Given the description of an element on the screen output the (x, y) to click on. 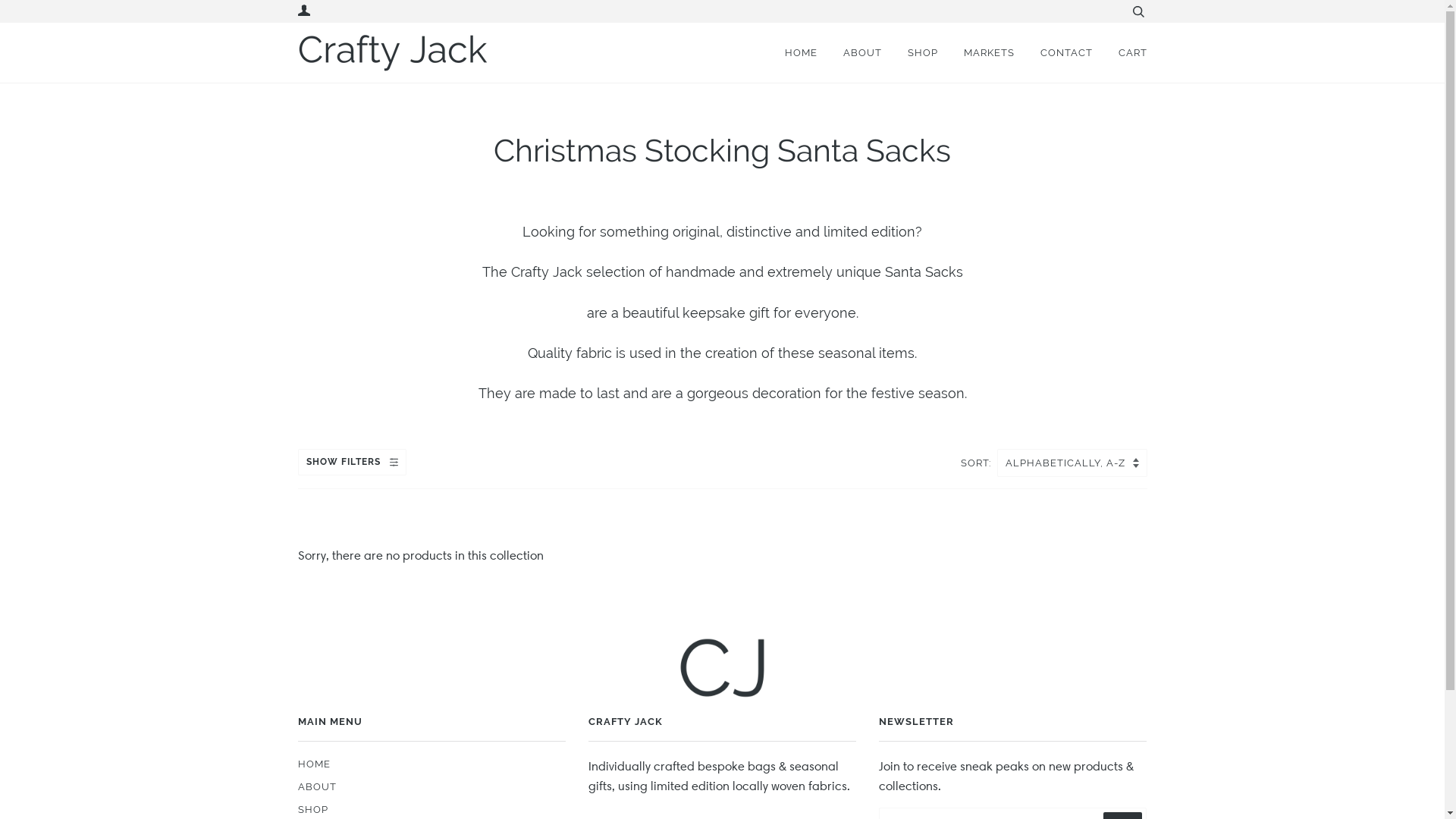
SHOP Element type: text (312, 809)
ABOUT Element type: text (316, 786)
MARKETS Element type: text (976, 52)
ABOUT Element type: text (850, 52)
SHOW FILTERS Element type: text (351, 461)
HOME Element type: text (313, 763)
Search Element type: hover (1137, 11)
CONTACT Element type: text (1054, 52)
SHOP Element type: text (910, 52)
CART Element type: text (1120, 52)
HOME Element type: text (796, 52)
